Given the description of an element on the screen output the (x, y) to click on. 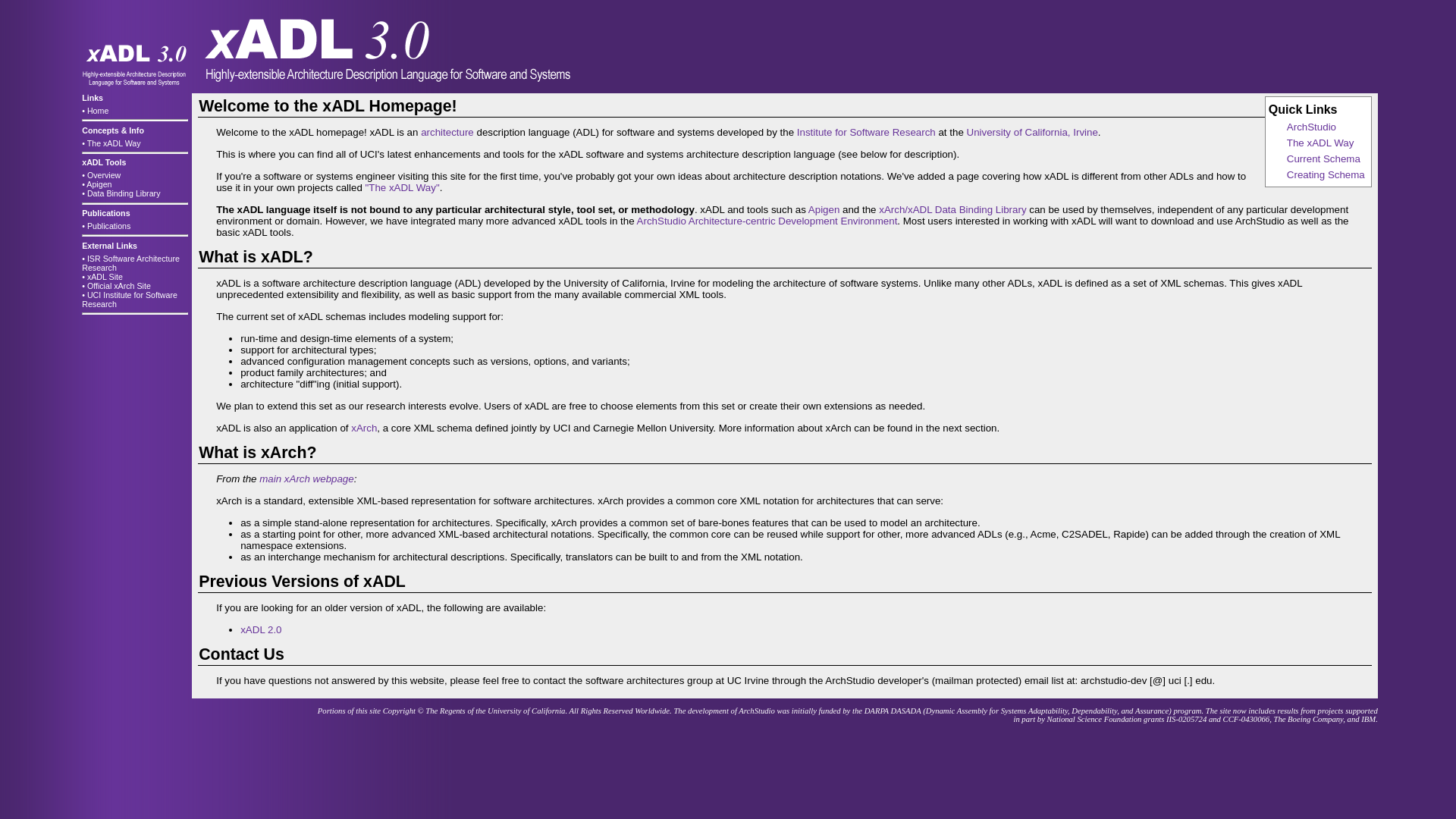
ISR Software Architecture Research (130, 262)
Overview (103, 174)
Creating Schema (1326, 174)
Data Binding Library (123, 193)
Apigen (824, 209)
ArchStudio Architecture-centric Development Environment (767, 220)
Official xArch Site (119, 285)
Apigen (98, 184)
XML schemas (1192, 283)
UCI Institute for Software Research (129, 299)
